Given the description of an element on the screen output the (x, y) to click on. 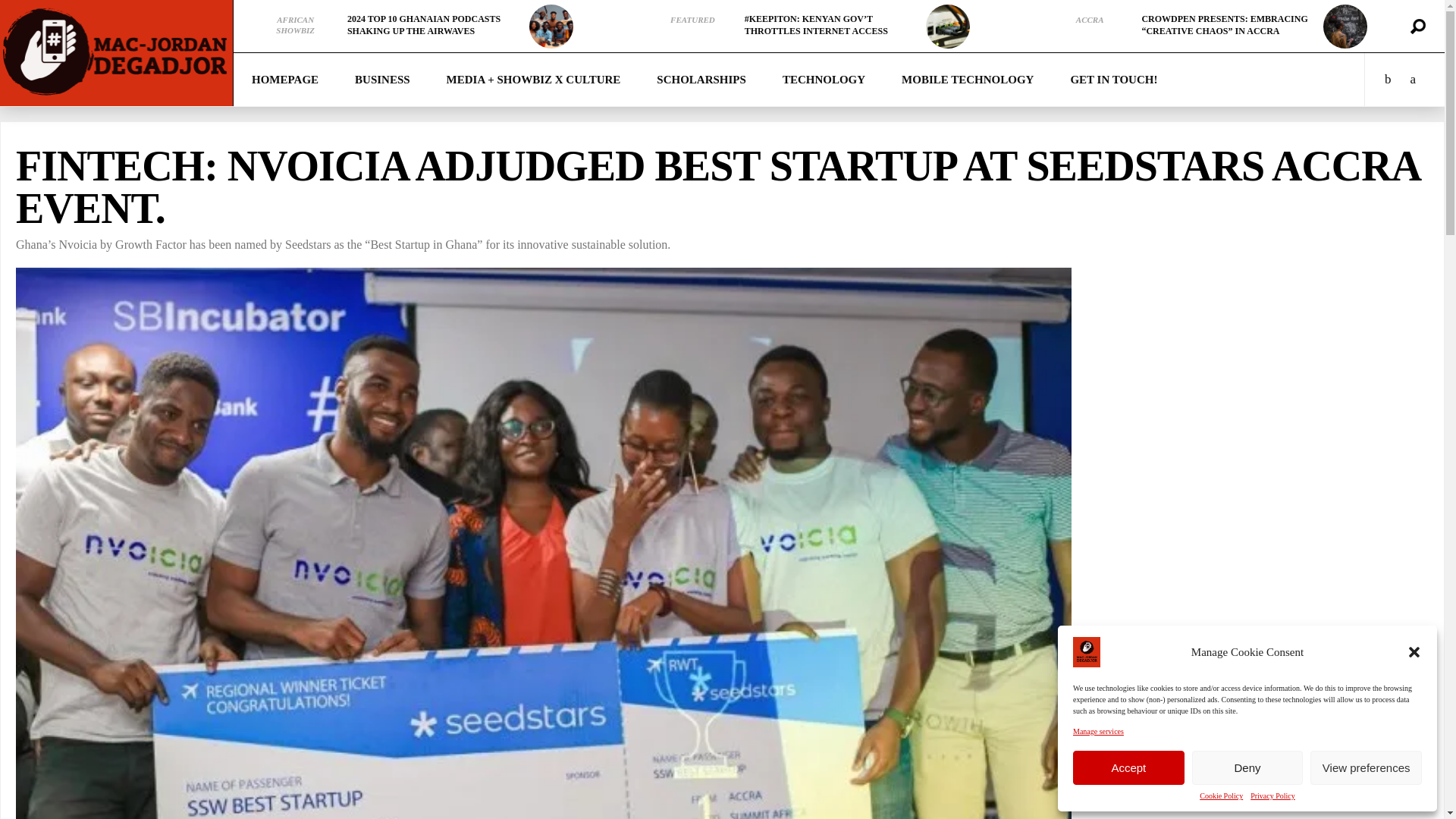
Homepage (284, 79)
BUSINESS (382, 79)
Deny (1247, 767)
2024 TOP 10 GHANAIAN PODCASTS SHAKING UP THE AIRWAVES (423, 24)
ACCRA (1089, 19)
2024 Top 10 Ghanaian Podcasts Shaking Up the Airwaves (423, 24)
Cookie Policy (1221, 796)
Featured (691, 19)
Accept (1129, 767)
Privacy Policy (1272, 796)
HOMEPAGE (284, 79)
View preferences (1366, 767)
2024 Top 10 Ghanaian Podcasts Shaking Up the Airwaves (551, 26)
Manage services (1098, 731)
African Showbiz (295, 25)
